Given the description of an element on the screen output the (x, y) to click on. 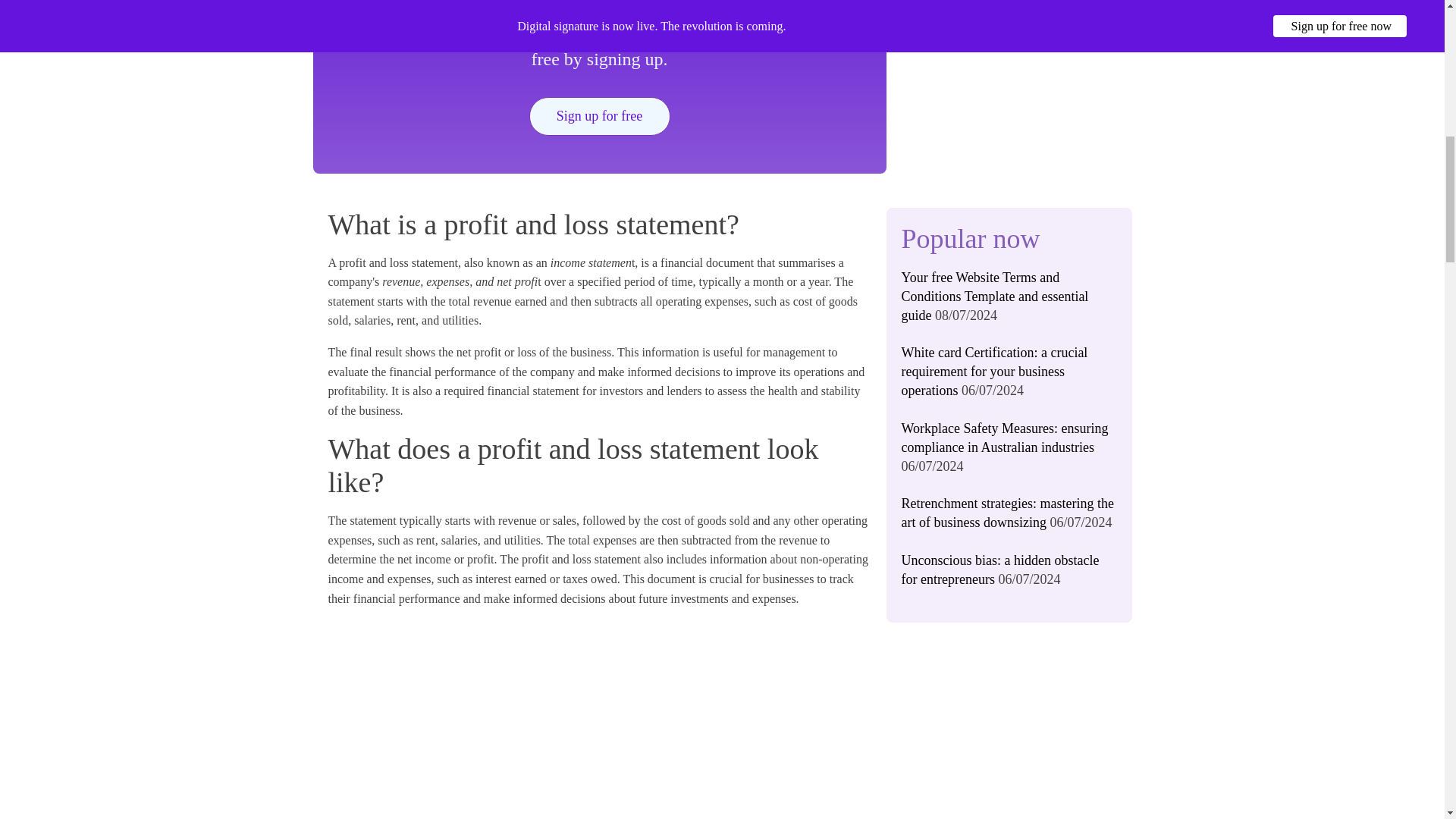
Unconscious bias: a hidden obstacle for entrepreneurs (1000, 569)
Sign up for free (599, 116)
